Given the description of an element on the screen output the (x, y) to click on. 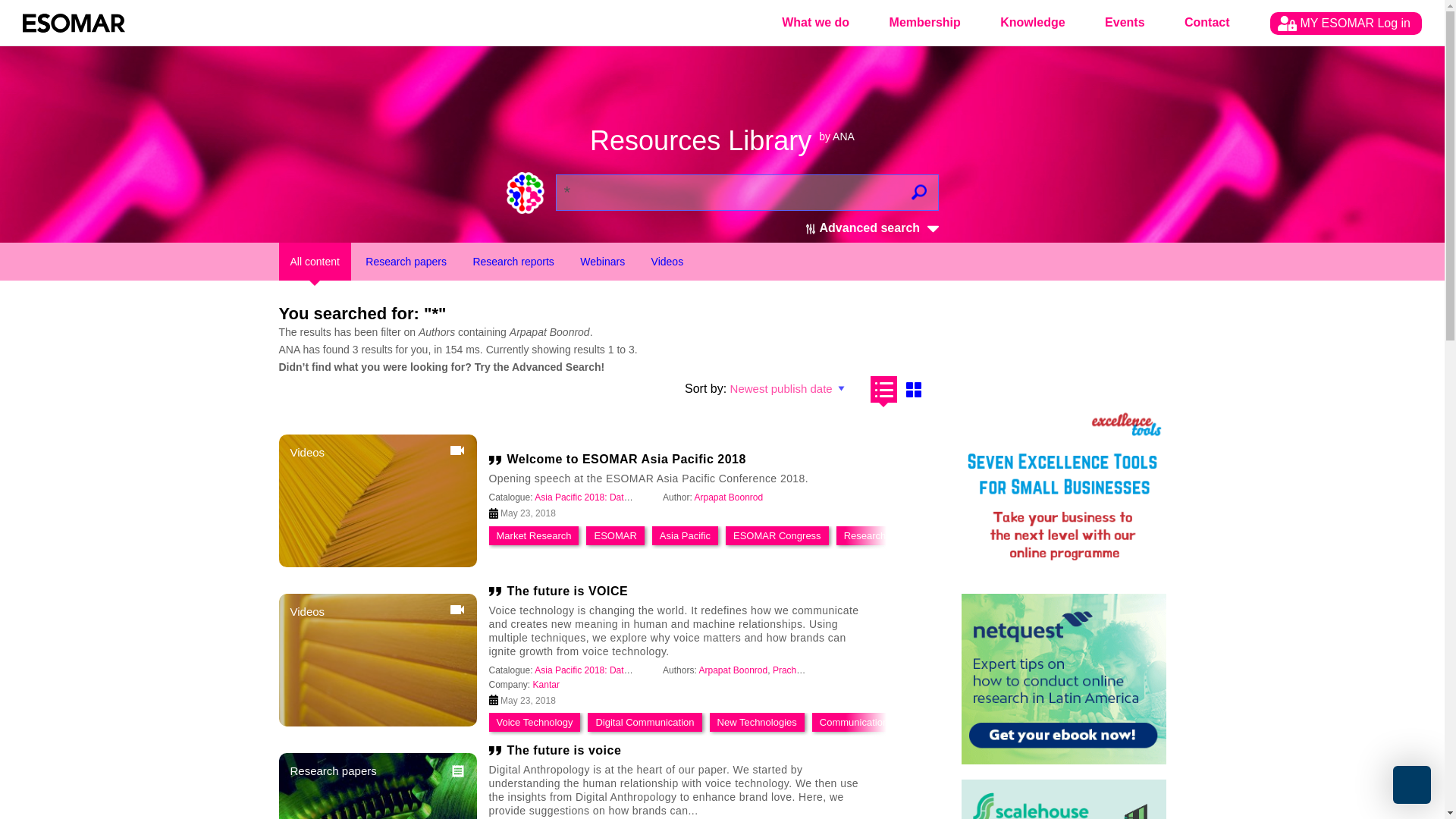
Asia Pacific (684, 535)
Prachawan Ketavan (813, 670)
Asia Pacific 2018: Data Research Insights Vision Excellence (655, 497)
Research reports (512, 261)
ESOMAR (615, 535)
Contact (1206, 22)
Grid view (914, 388)
Events (1123, 22)
Get a citation. (496, 459)
Welcome to ESOMAR Asia Pacific 2018 (686, 459)
Arpapat Boonrod (732, 670)
ESOMAR Congress (777, 535)
Membership (924, 22)
Arpapat Boonrod (728, 497)
Asia Pacific 2018: Data Research Insights Vision Excellence (655, 670)
